Given the description of an element on the screen output the (x, y) to click on. 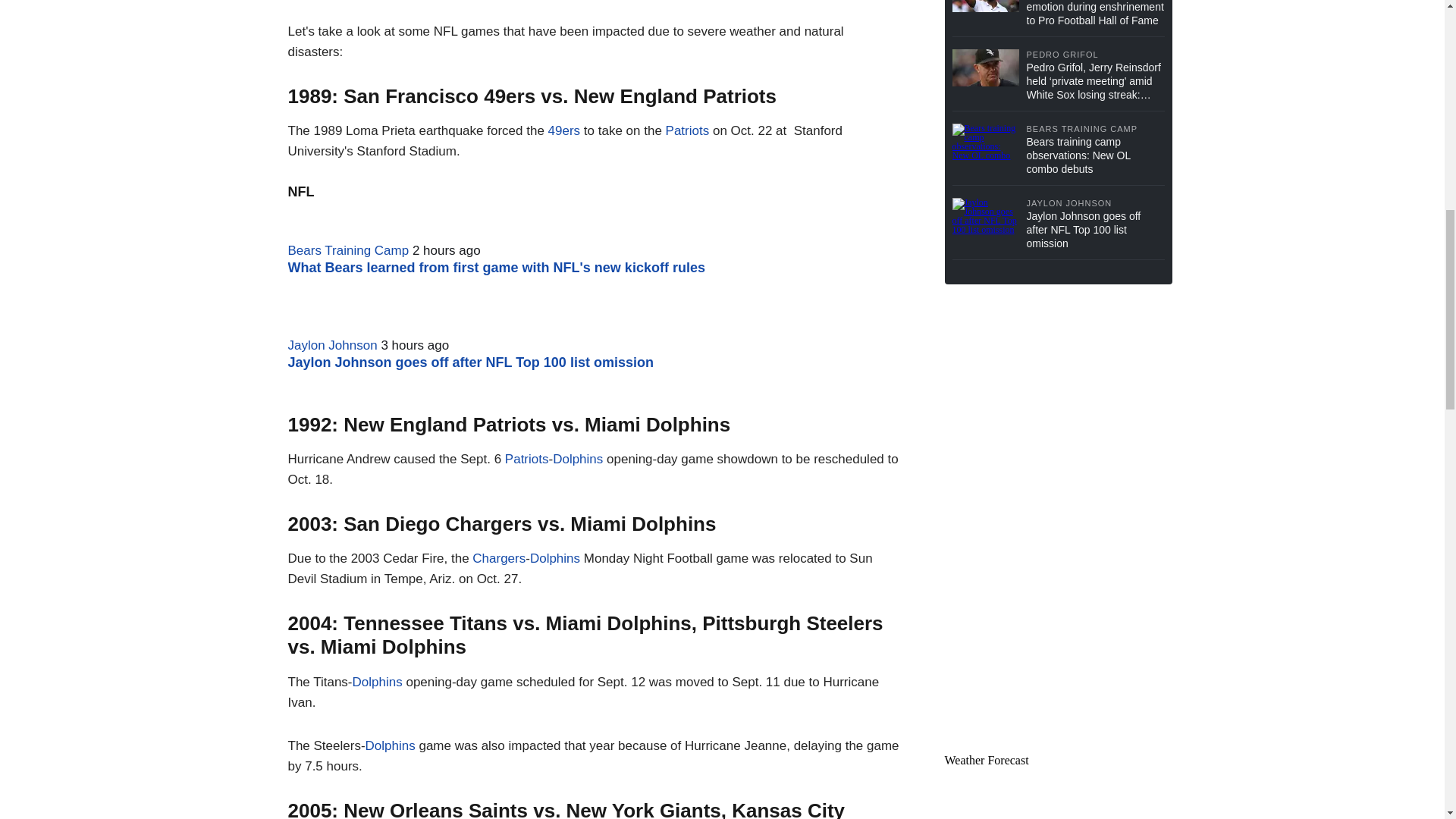
Dolphins (377, 681)
49ers (565, 130)
Dolphins (577, 459)
Patriots (687, 130)
Bears Training Camp (348, 250)
Jaylon Johnson (332, 345)
Jaylon Johnson goes off after NFL Top 100 list omission (470, 362)
Dolphins (554, 558)
Patriots (526, 459)
